Given the description of an element on the screen output the (x, y) to click on. 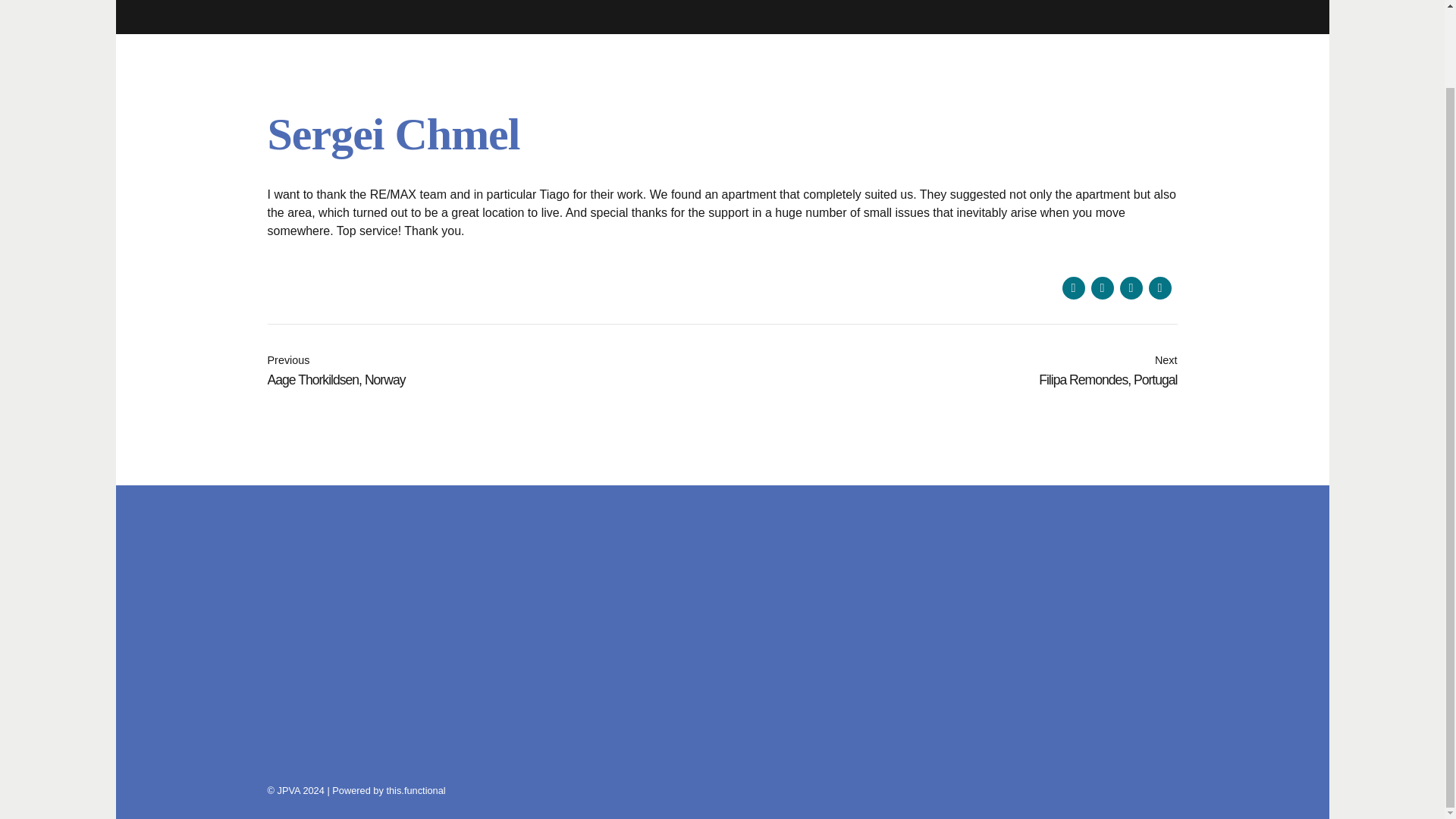
Share on Twitter (1101, 287)
Share on WhatsApp (1159, 287)
this.functional (415, 790)
Share on Linkedin (1130, 287)
Share on Facebook (1072, 287)
